Given the description of an element on the screen output the (x, y) to click on. 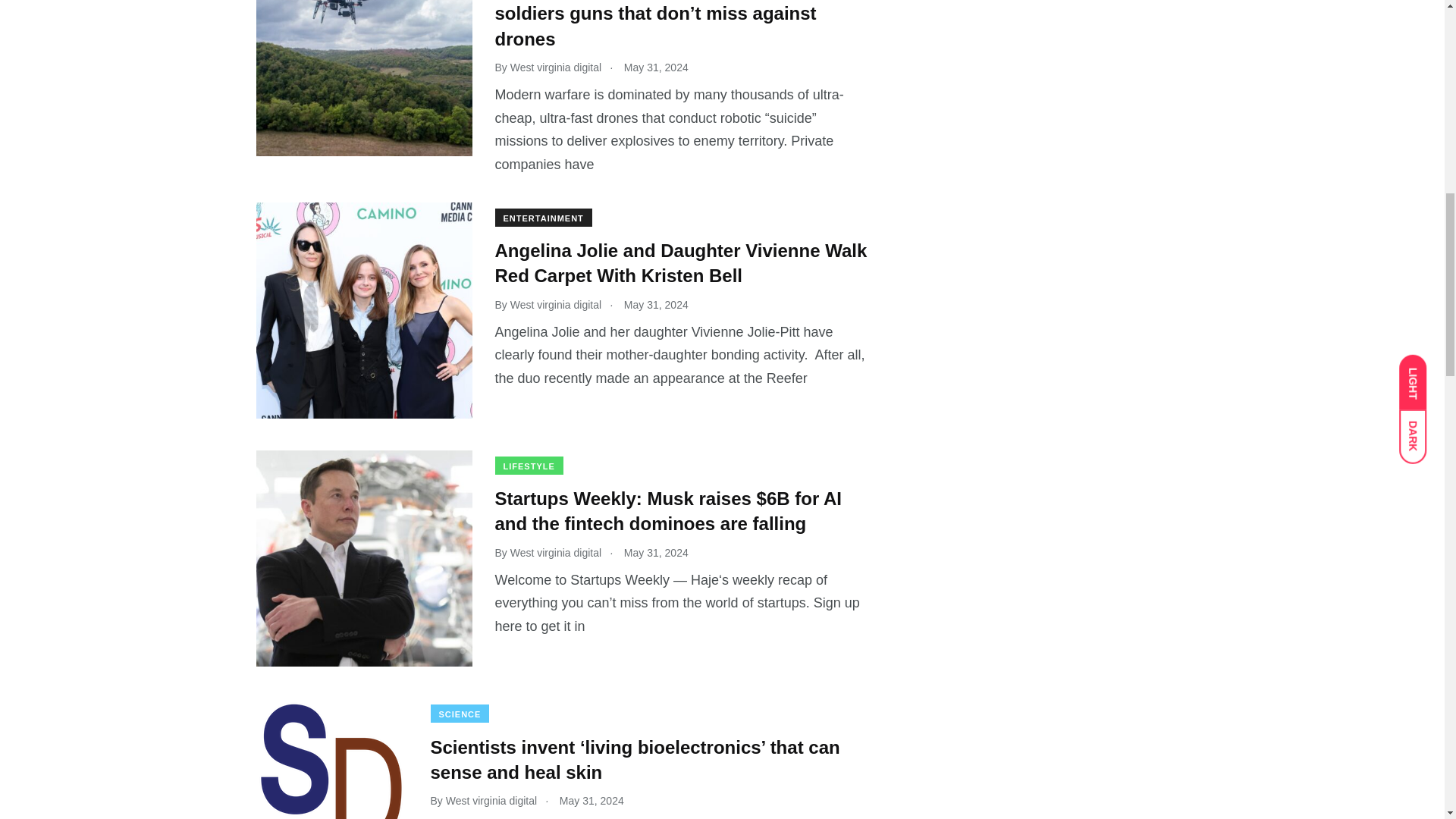
West virginia digital (556, 552)
LIFESTYLE (528, 465)
West virginia digital (556, 67)
West virginia digital (556, 304)
SCIENCE (459, 713)
West virginia digital (491, 800)
ENTERTAINMENT (543, 217)
